Given the description of an element on the screen output the (x, y) to click on. 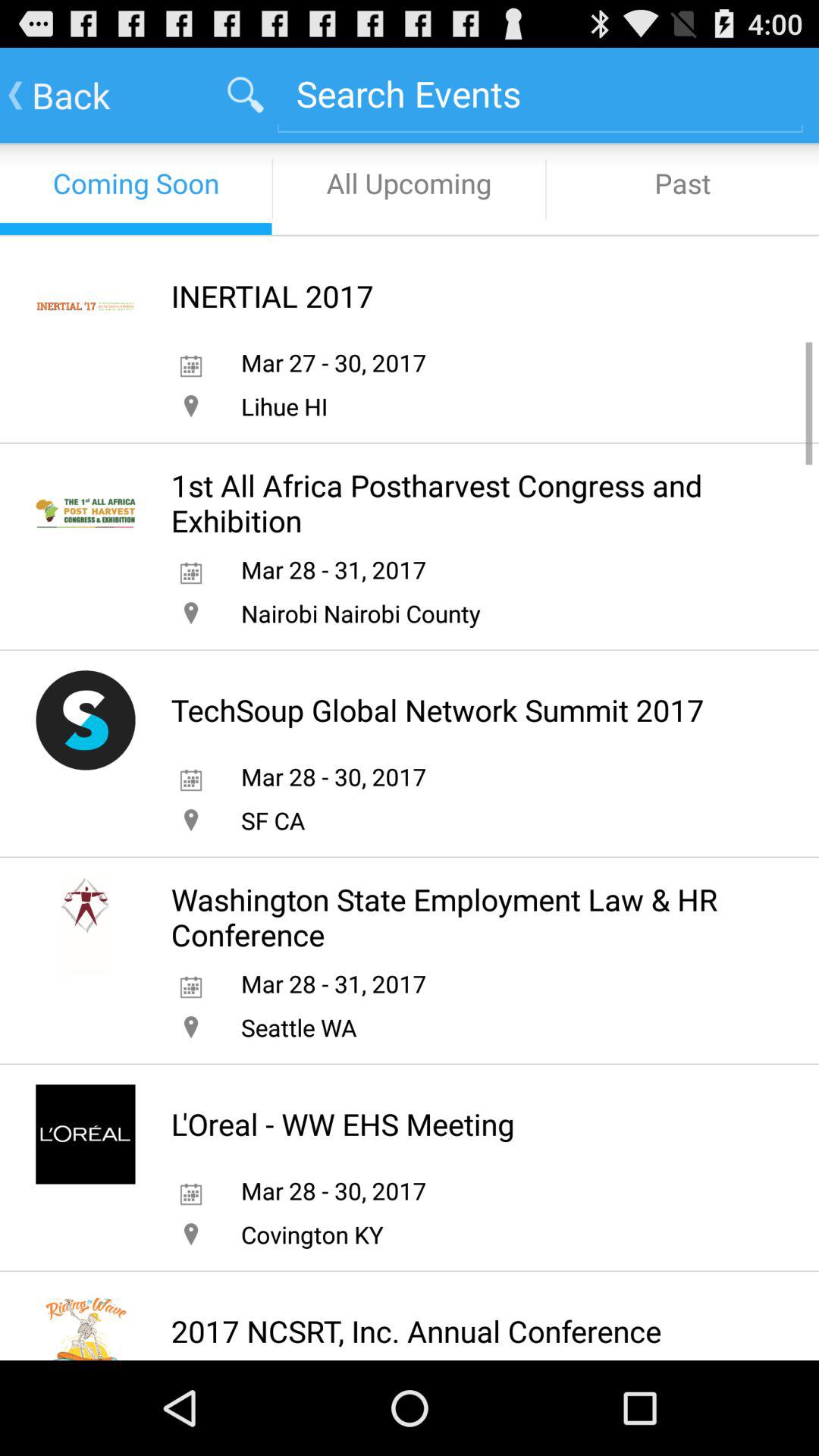
select l oreal ww (342, 1123)
